Given the description of an element on the screen output the (x, y) to click on. 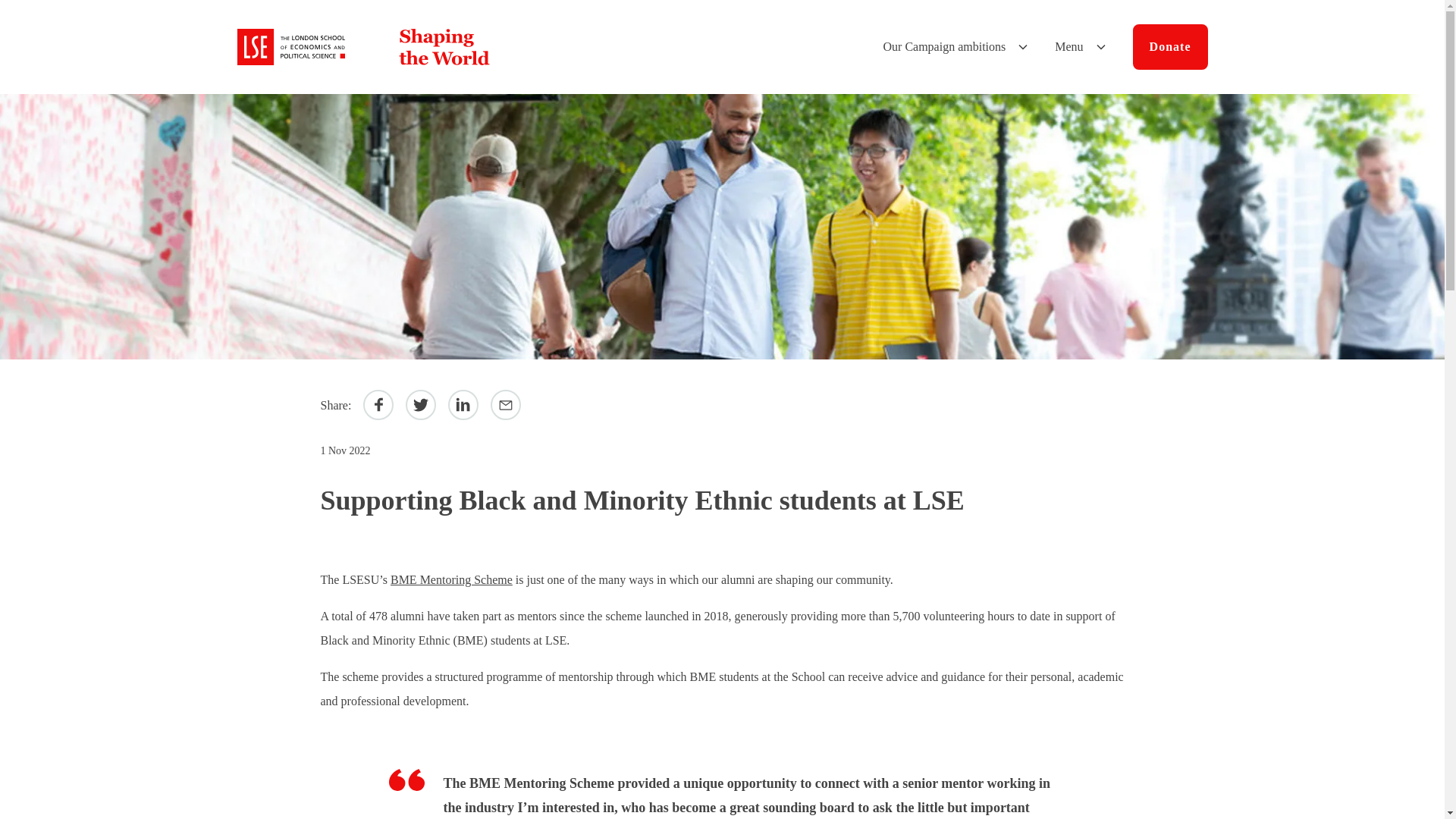
Donate (1170, 46)
Our Campaign ambitions (956, 46)
Facebook (377, 404)
Email (505, 404)
Linkedin (463, 404)
Menu (1081, 46)
BME Mentoring Scheme (451, 579)
return to home page (366, 46)
Twitter (420, 404)
